Given the description of an element on the screen output the (x, y) to click on. 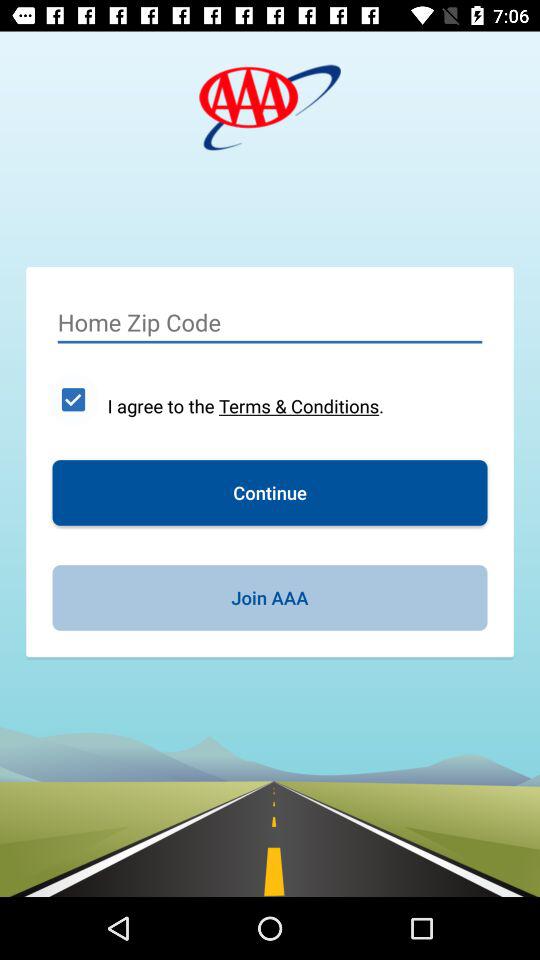
turn on icon on the left (73, 399)
